Given the description of an element on the screen output the (x, y) to click on. 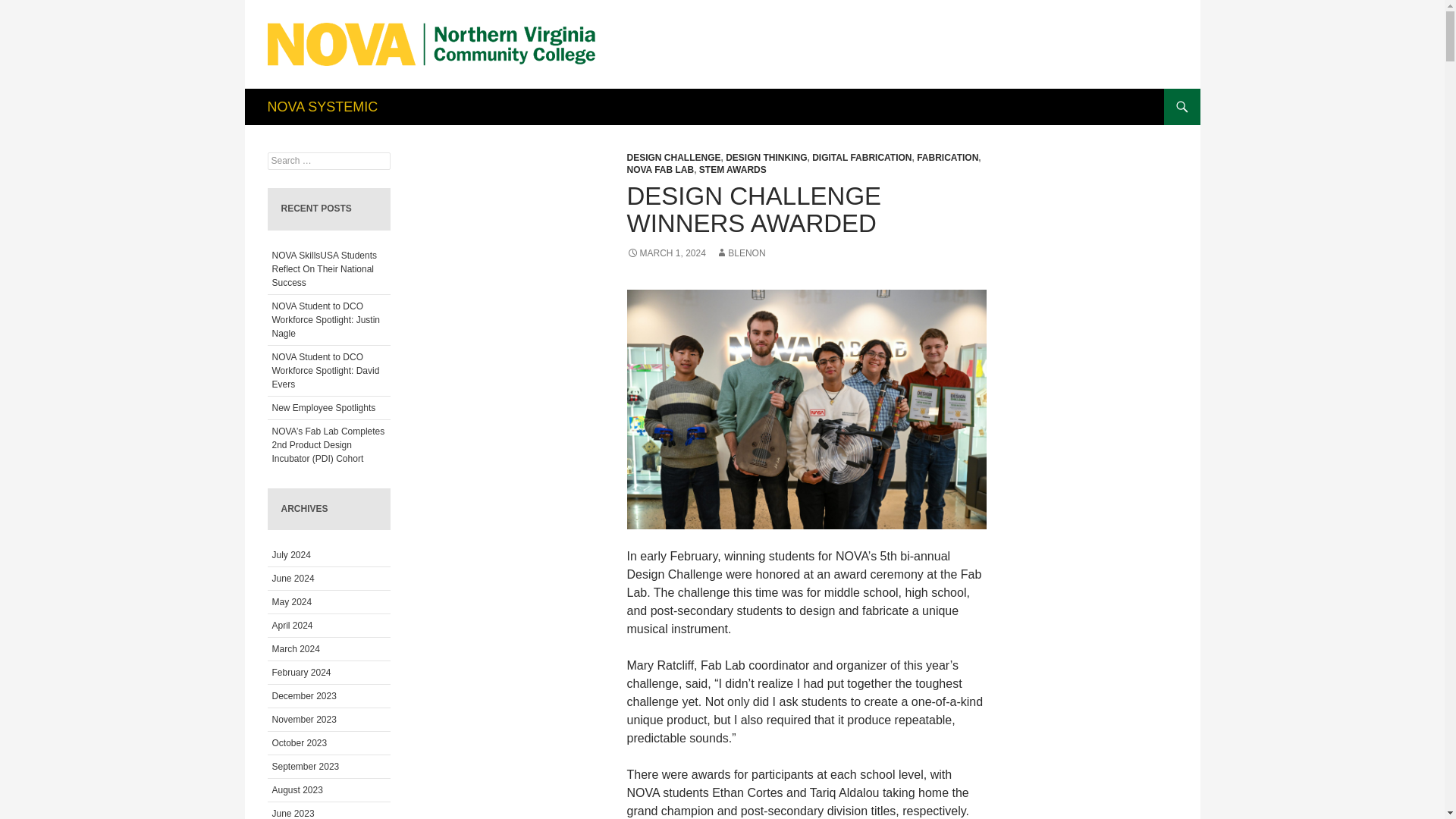
NOVA Student to DCO Workforce Spotlight: David Evers (324, 370)
New Employee Spotlights (322, 407)
April 2024 (291, 624)
MARCH 1, 2024 (665, 253)
Search (30, 8)
NOVA FAB LAB (660, 169)
DESIGN THINKING (765, 157)
June 2024 (292, 578)
October 2023 (298, 742)
